Given the description of an element on the screen output the (x, y) to click on. 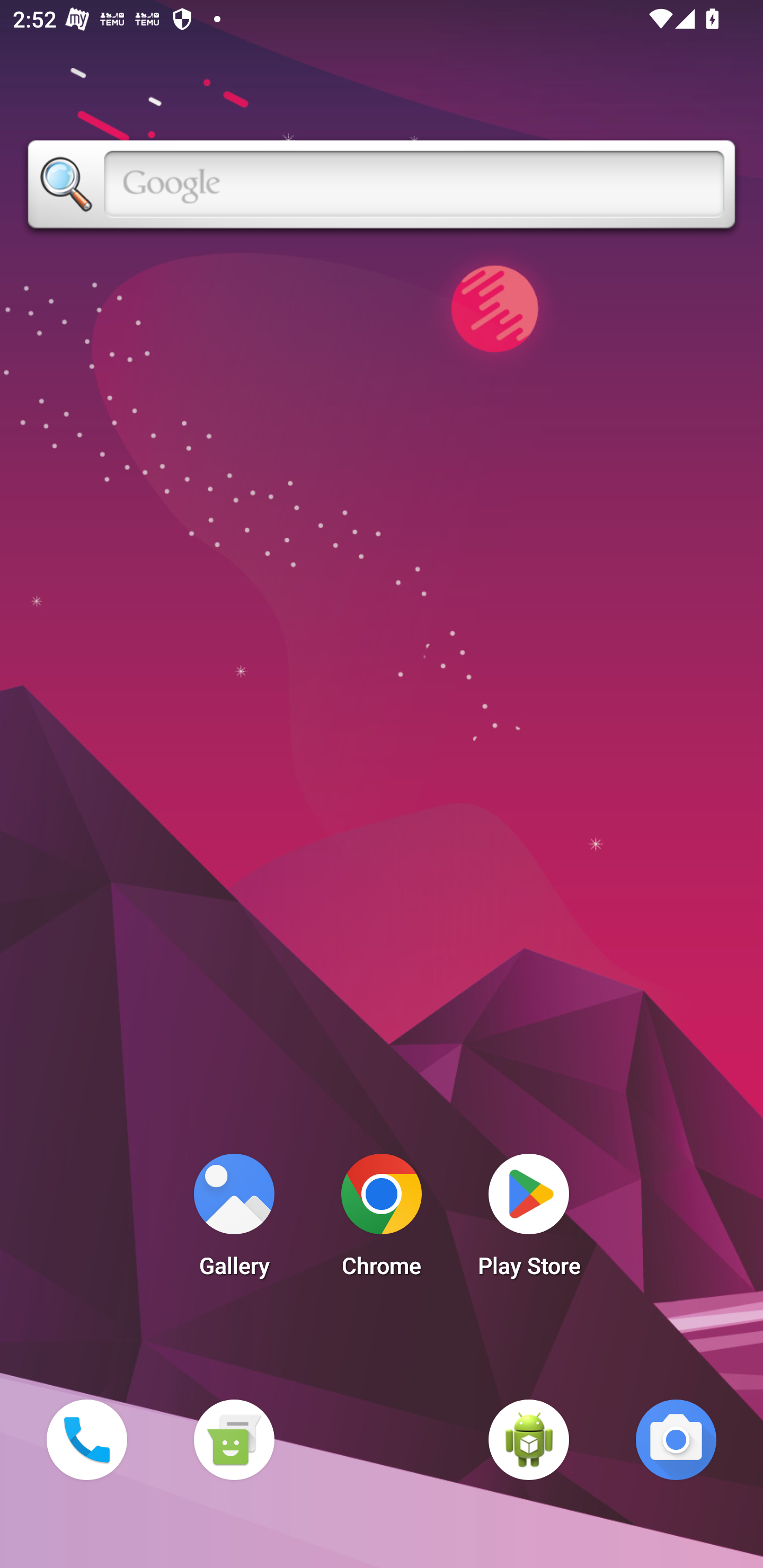
Gallery (233, 1220)
Chrome (381, 1220)
Play Store (528, 1220)
Phone (86, 1439)
Messaging (233, 1439)
WebView Browser Tester (528, 1439)
Camera (676, 1439)
